Given the description of an element on the screen output the (x, y) to click on. 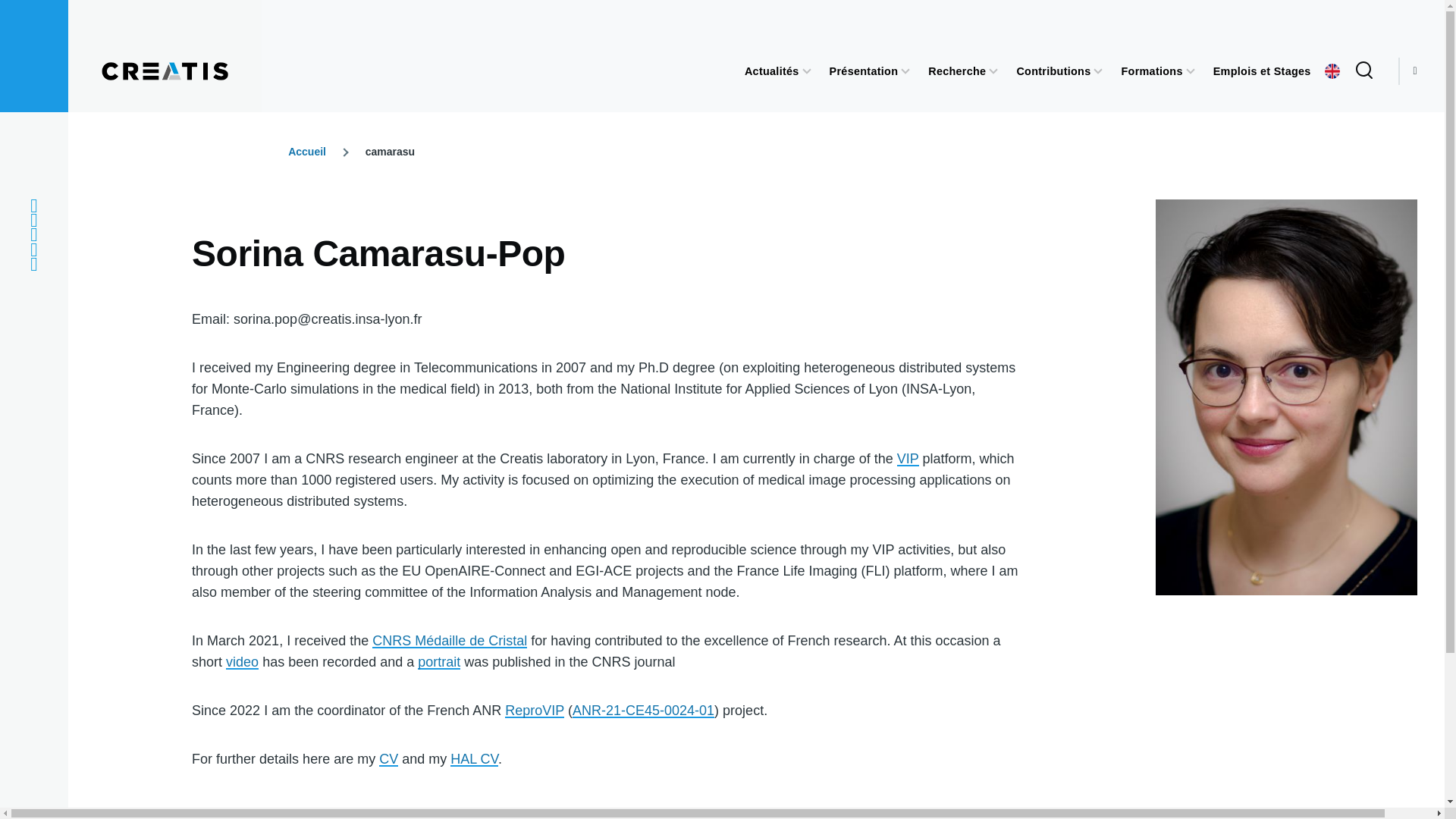
Rechercher (917, 166)
Intranet (33, 249)
Formations (1151, 70)
Contributions (1053, 70)
English (1331, 70)
Aller au contenu principal (595, 6)
Recherche (956, 70)
English (1331, 70)
Emplois et Stages (1261, 70)
